Given the description of an element on the screen output the (x, y) to click on. 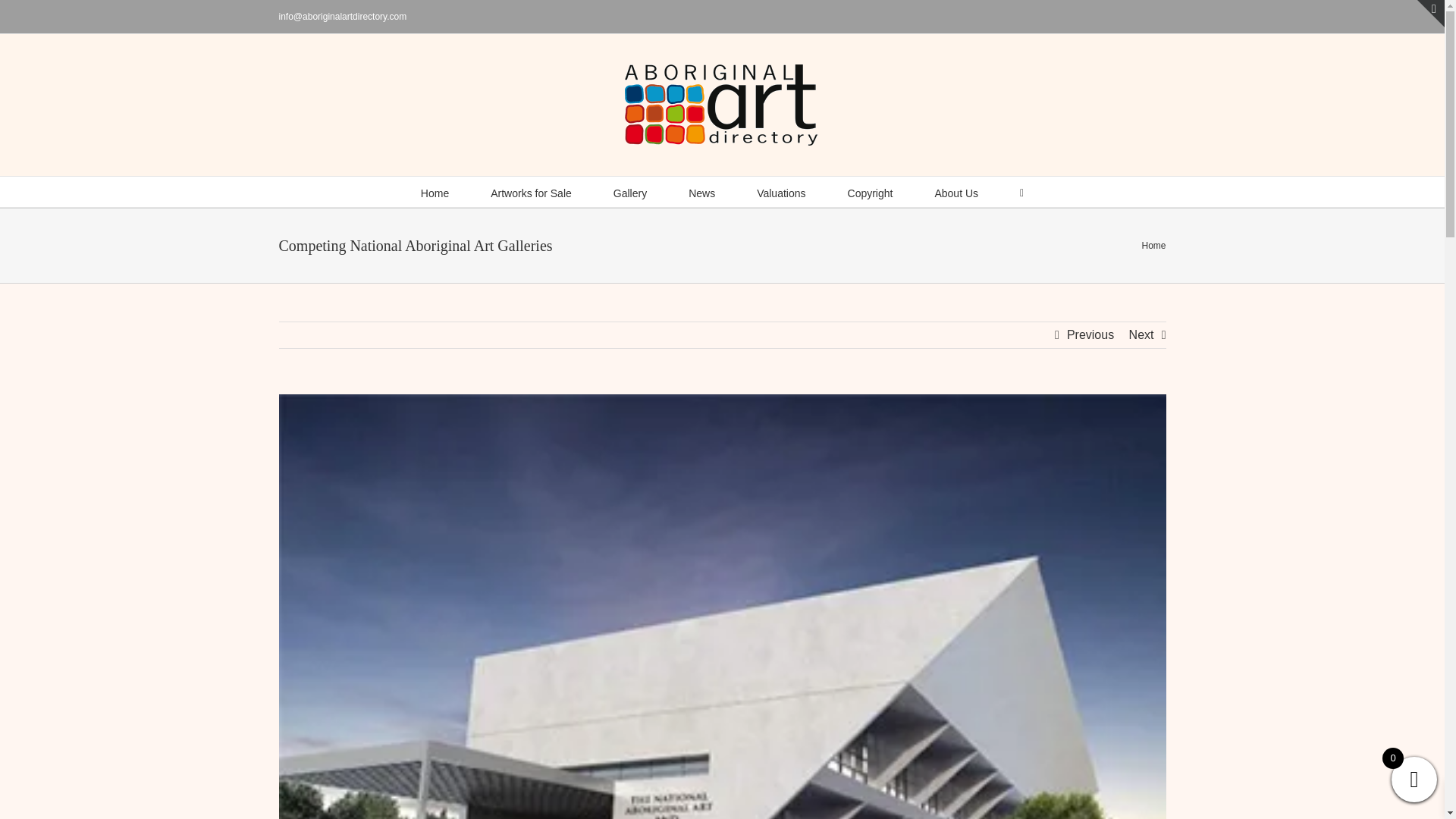
Previous (1090, 335)
Artworks for Sale (531, 191)
About Us (956, 191)
Valuations (781, 191)
Gallery (629, 191)
Copyright (870, 191)
Next (1141, 335)
Home (434, 191)
